Given the description of an element on the screen output the (x, y) to click on. 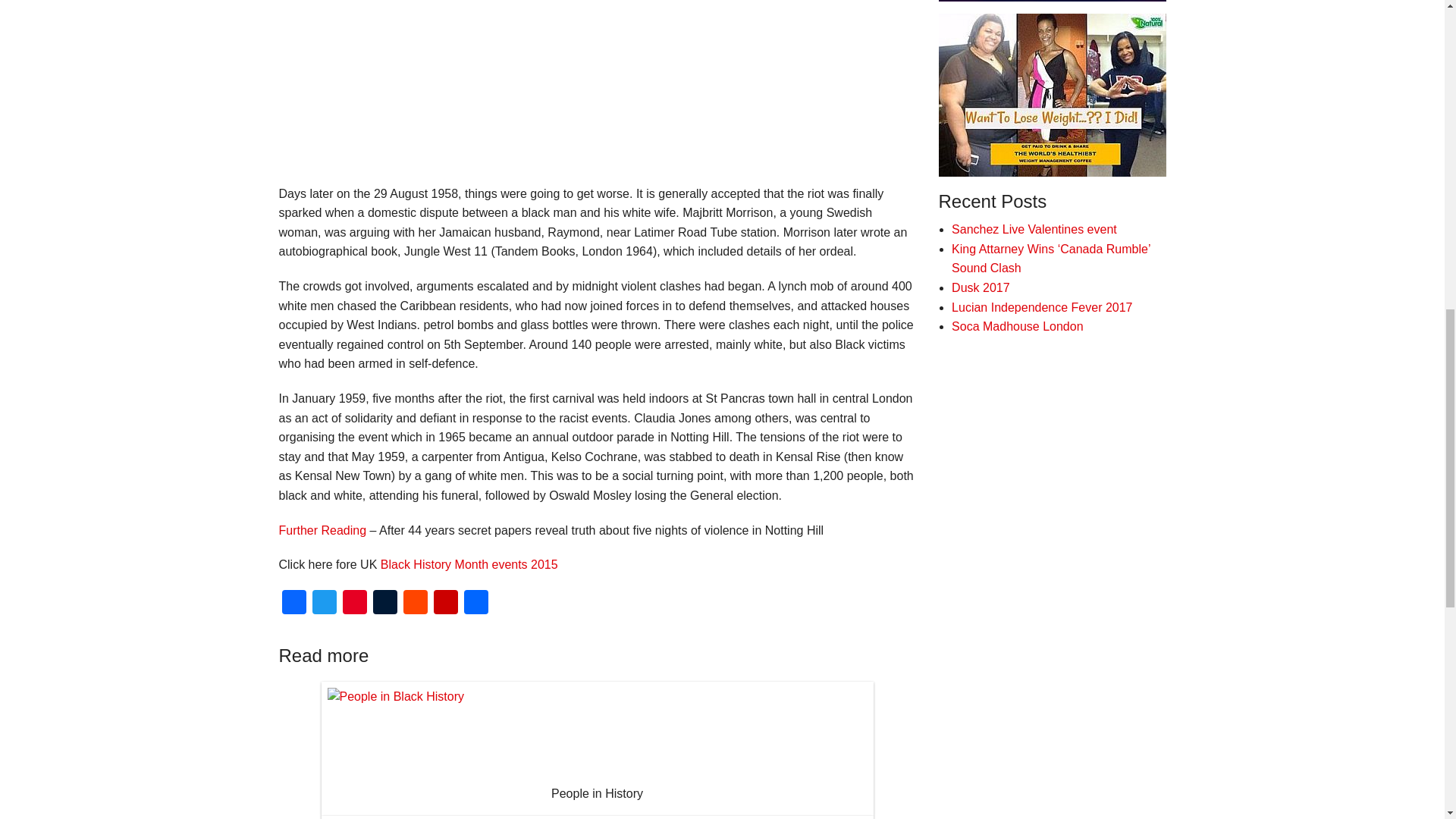
Facebook (293, 603)
Further Reading (322, 530)
Reddit (415, 603)
Share (476, 603)
Flipboard (445, 603)
Soca Madhouse London (1017, 326)
Tumblr (384, 603)
Twitter (323, 603)
Twitter (323, 603)
Dusk 2017 (981, 287)
Black History Month Events (468, 563)
People in History (597, 748)
Black History Month events 2015 (468, 563)
